Given the description of an element on the screen output the (x, y) to click on. 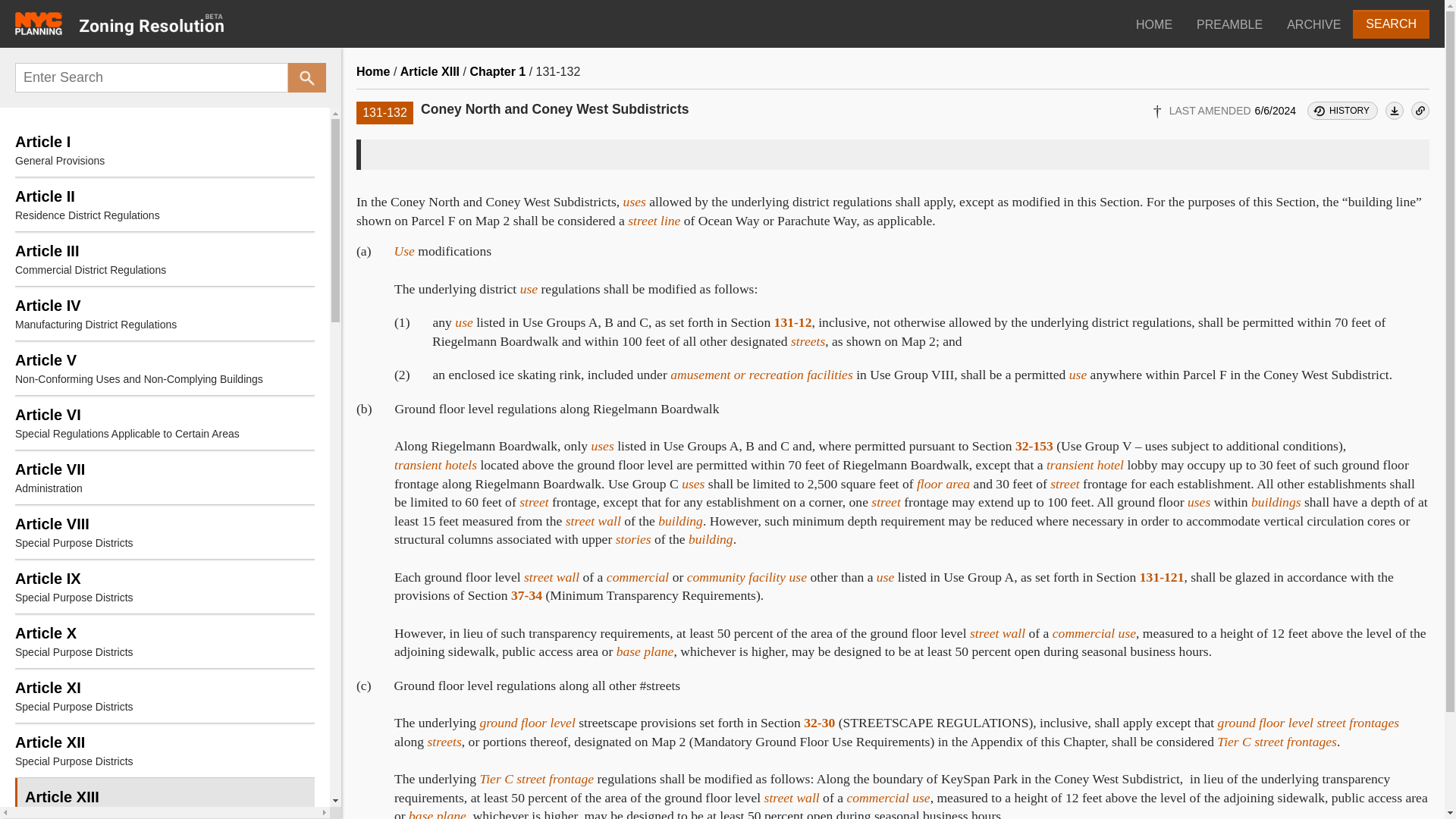
Skip to main content (164, 586)
ARCHIVE (164, 367)
Search (164, 477)
SEARCH (164, 531)
